Given the description of an element on the screen output the (x, y) to click on. 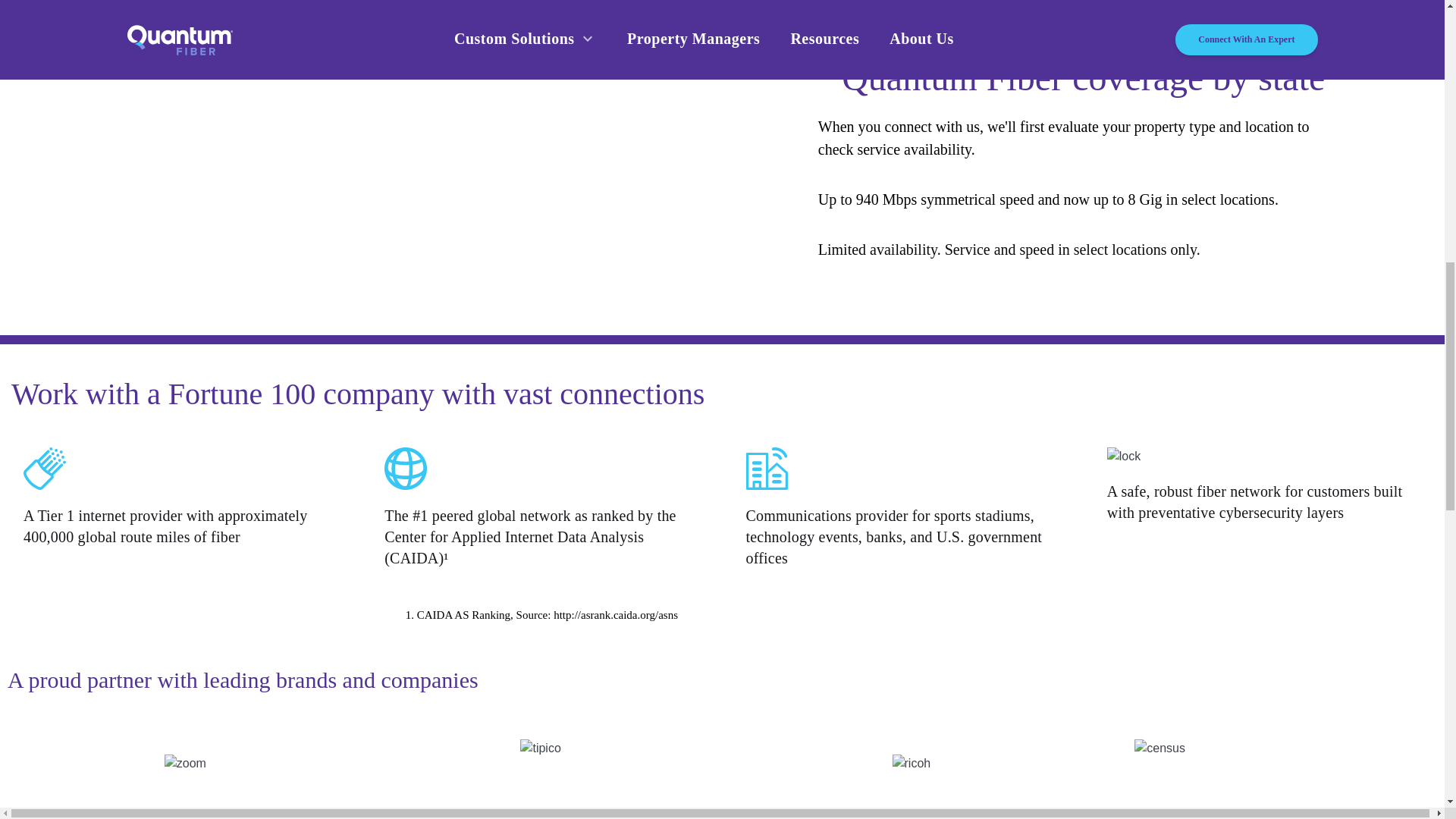
globe (405, 468)
lock (1123, 456)
ricoh (911, 763)
zoom (185, 763)
town Wifi (766, 468)
census (1159, 748)
tipico (539, 748)
fiber (44, 468)
